Given the description of an element on the screen output the (x, y) to click on. 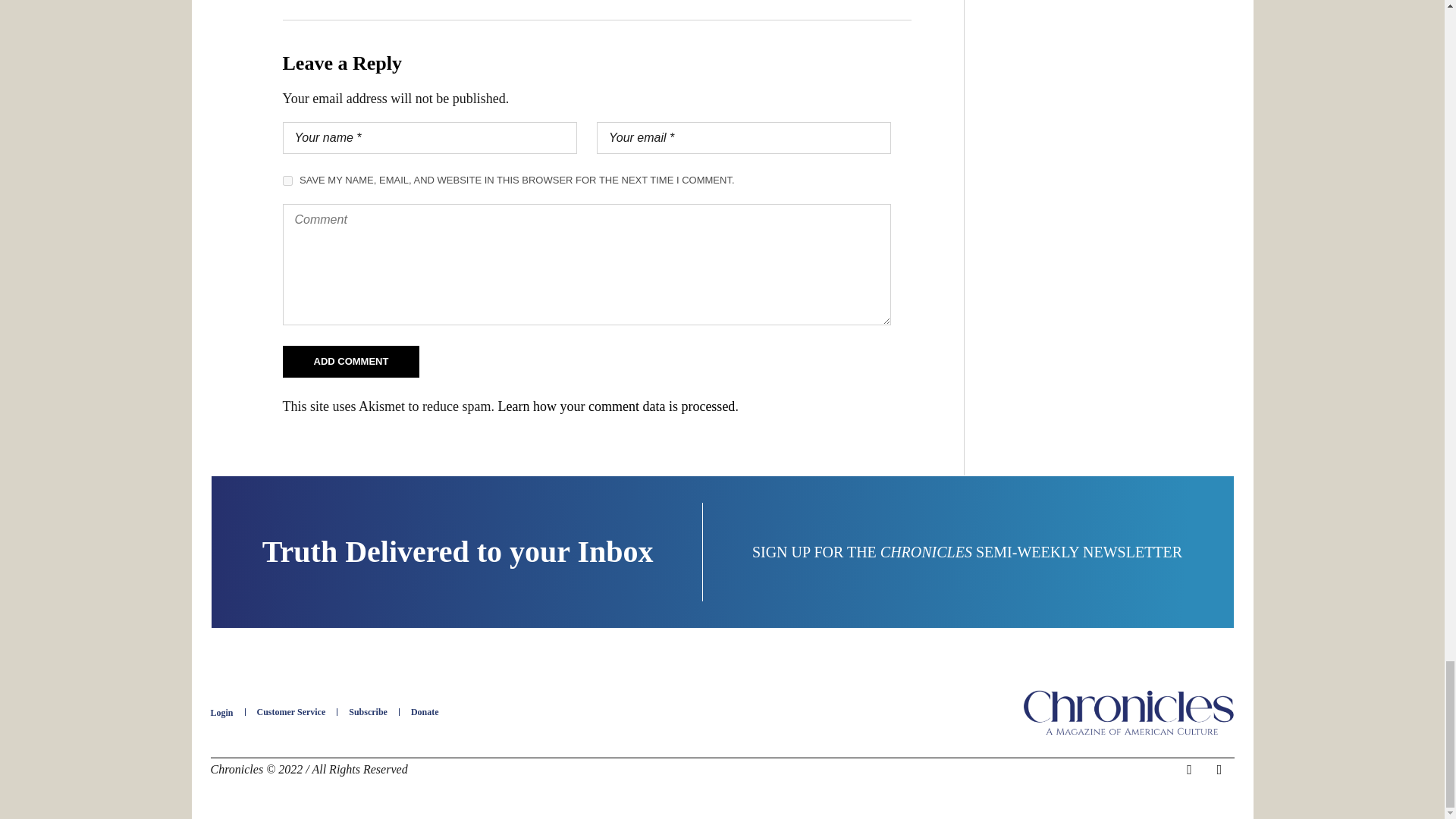
Subscribe (368, 711)
Add Comment (350, 361)
Learn how your comment data is processed (616, 406)
Customer Service (291, 711)
Twitter (1219, 769)
Facebook (1189, 769)
Add Comment (350, 361)
Donate (424, 711)
yes (287, 180)
Login (221, 712)
